Given the description of an element on the screen output the (x, y) to click on. 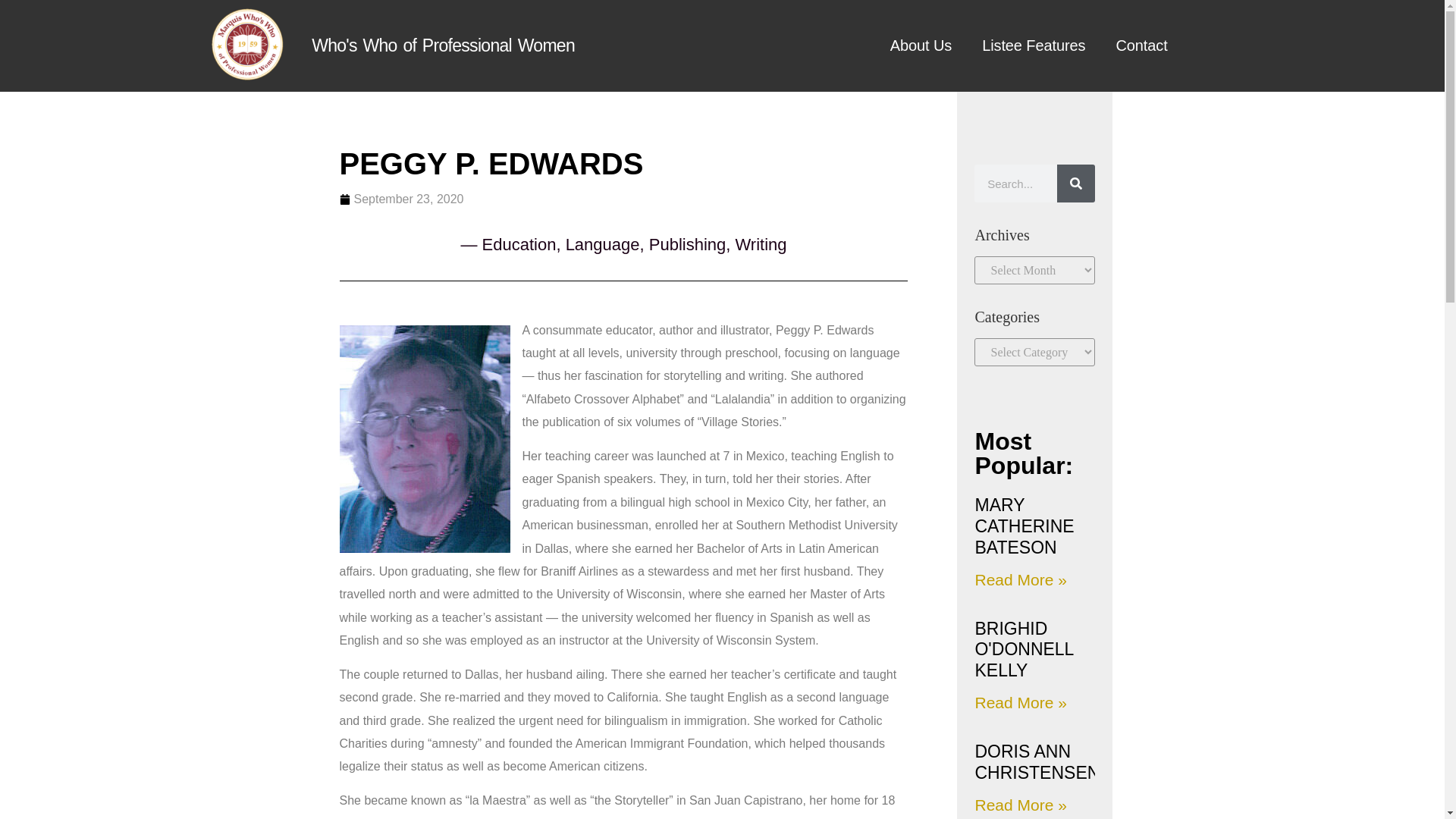
Contact (1141, 45)
Who's Who of Professional Women (443, 45)
MARY CATHERINE BATESON (1024, 525)
September 23, 2020 (401, 199)
About Us (920, 45)
Language (603, 244)
DORIS ANN CHRISTENSEN (1036, 762)
Publishing (687, 244)
Listee Features (1033, 45)
Education (518, 244)
